Given the description of an element on the screen output the (x, y) to click on. 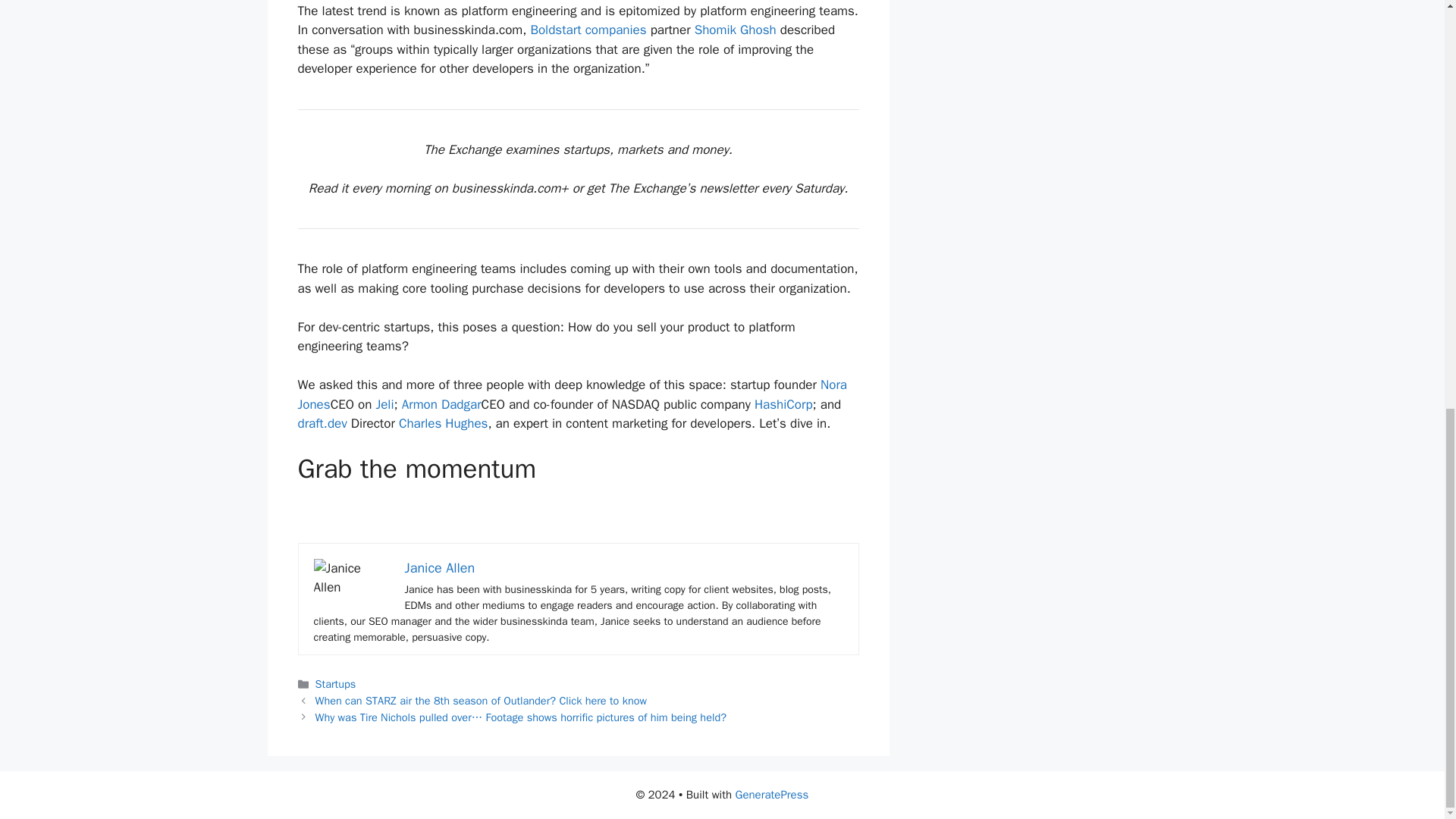
Janice Allen (440, 567)
Jeli (384, 404)
Charles Hughes (442, 423)
GeneratePress (772, 794)
Boldstart companies (587, 29)
Nora Jones (572, 394)
Shomik Ghosh (735, 29)
draft.dev (321, 423)
Armon Dadgar (441, 404)
